Given the description of an element on the screen output the (x, y) to click on. 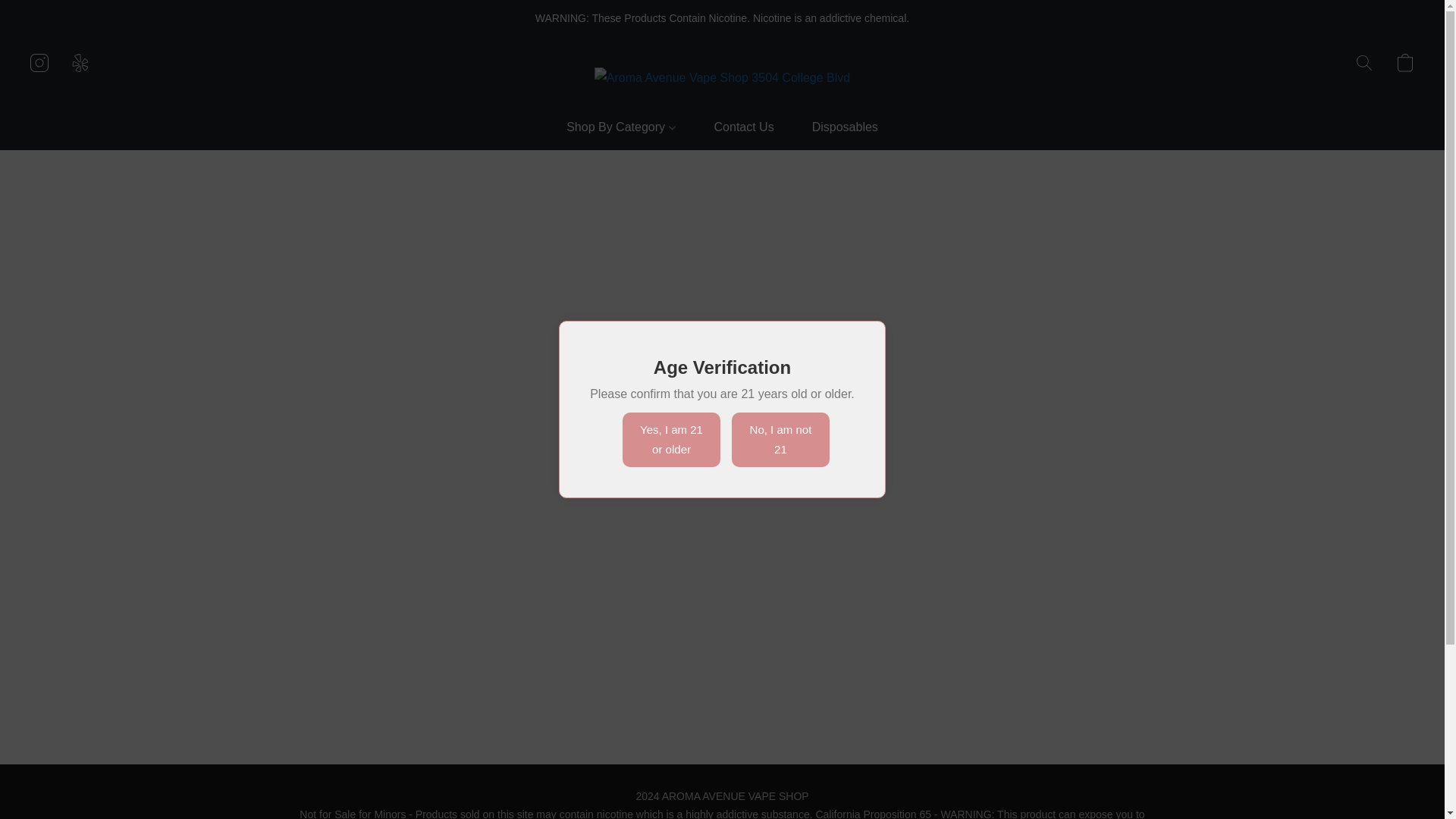
No, I am not 21 (780, 439)
Contact Us (744, 127)
Yes, I am 21 or older (671, 439)
Search the website (1363, 62)
Go to your shopping cart (1404, 62)
Disposables (835, 127)
Shop By Category (630, 127)
